Given the description of an element on the screen output the (x, y) to click on. 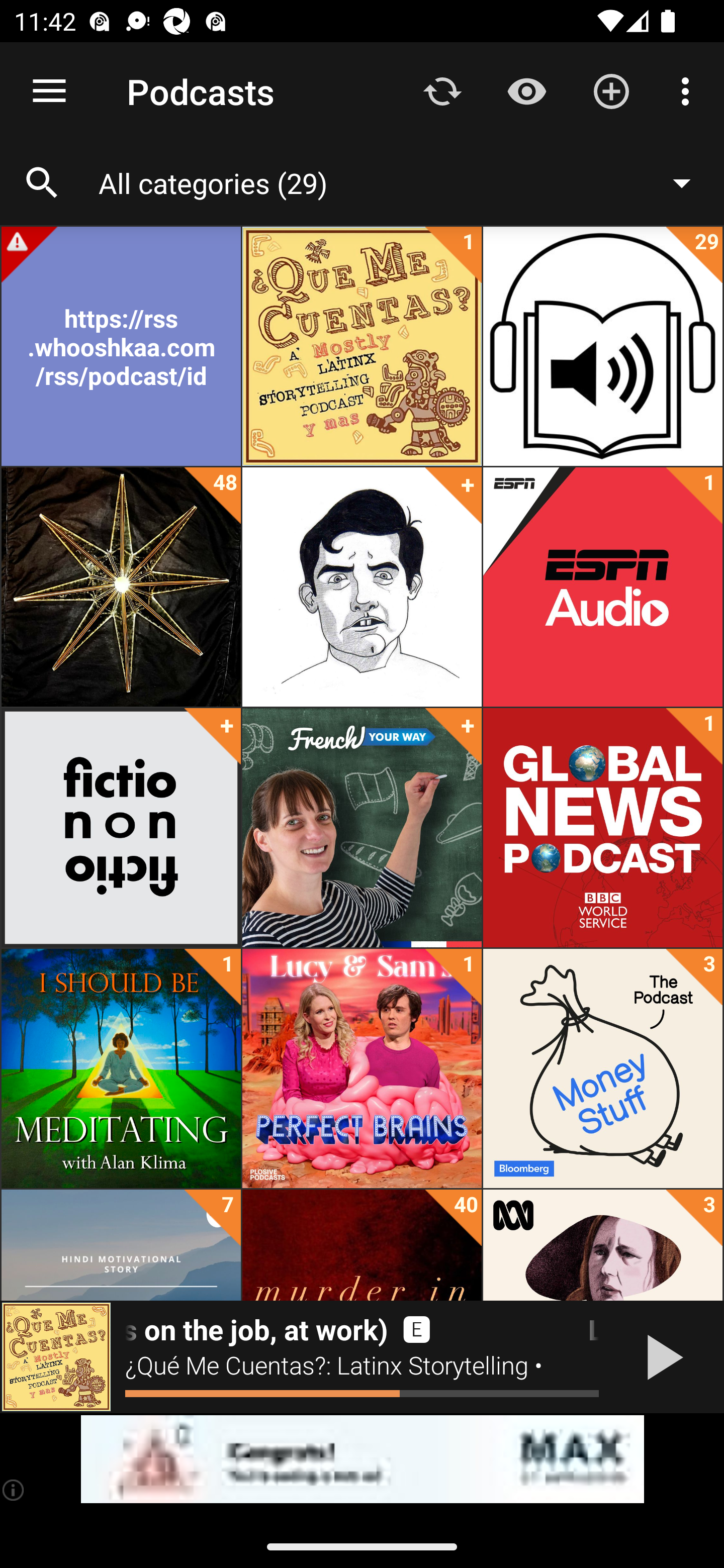
Open navigation sidebar (49, 91)
Update (442, 90)
Show / Hide played content (526, 90)
Add new Podcast (611, 90)
More options (688, 90)
Search (42, 183)
All categories (29) (404, 182)
https://rss.whooshkaa.com/rss/podcast/id/5884 (121, 346)
¿Qué Me Cuentas?: Latinx Storytelling 1 (361, 346)
Audiobooks 29 (602, 346)
Audiobooks 48 (121, 587)
Cooking Issues with Dave Arnold + (361, 587)
ESPN Audio 1 (602, 587)
fiction/non/fiction + (121, 827)
Global News Podcast 1 (602, 827)
Lucy & Sam's Perfect Brains 1 (361, 1068)
Money Stuff: The Podcast 3 (602, 1068)
Play / Pause (660, 1356)
app-monetization (362, 1459)
(i) (14, 1489)
